Given the description of an element on the screen output the (x, y) to click on. 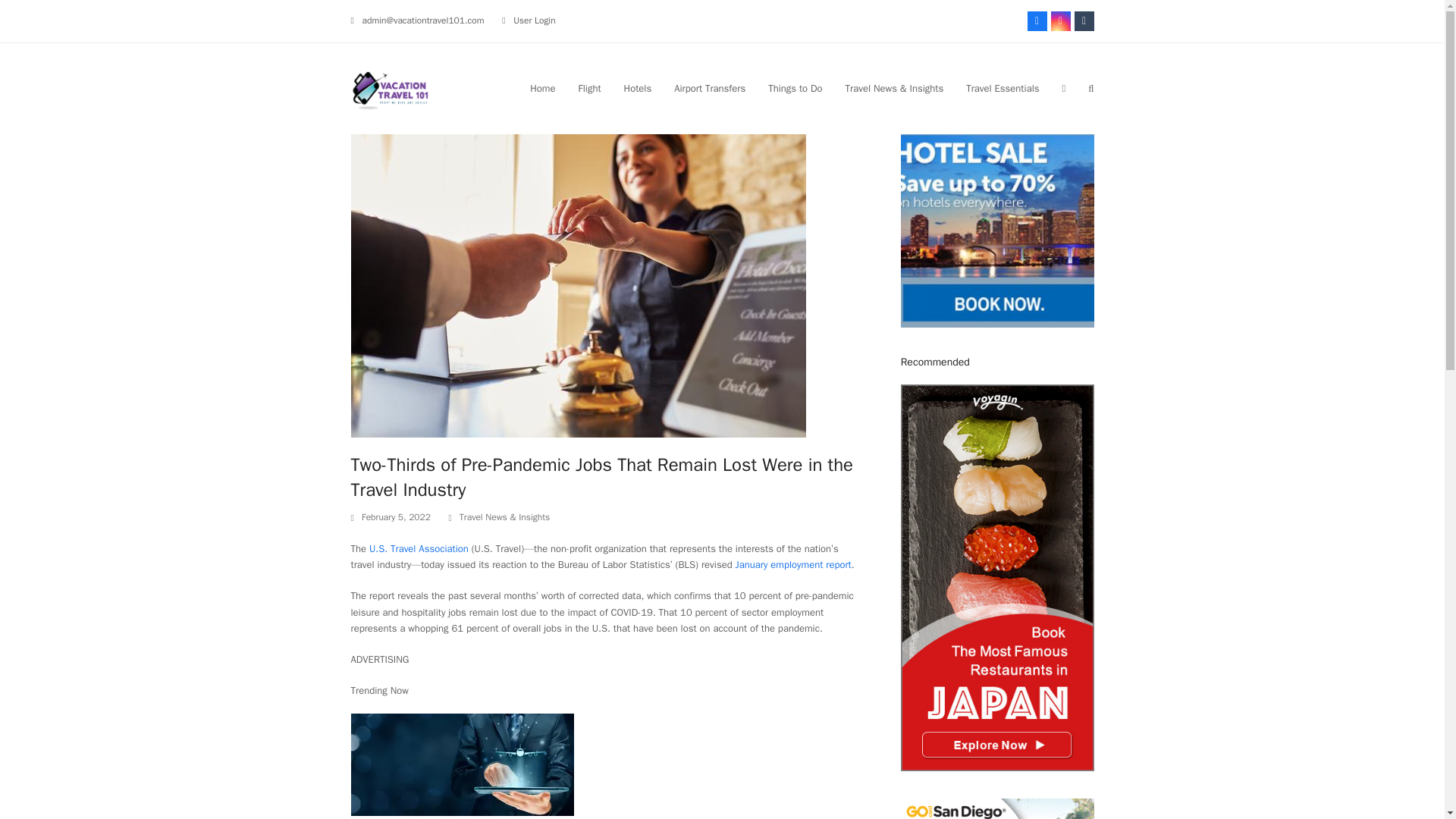
Tumblr (1083, 21)
User Login (534, 20)
Hotels (637, 88)
Travel technology, man with airplane and laptop (461, 764)
Airport Transfers (709, 88)
Things to Do (794, 88)
Flight (588, 88)
Home (542, 88)
January employment report (793, 563)
Facebook (1036, 21)
U.S. Travel Association (418, 548)
Travel Essentials (1002, 88)
Instagram (1060, 21)
